Given the description of an element on the screen output the (x, y) to click on. 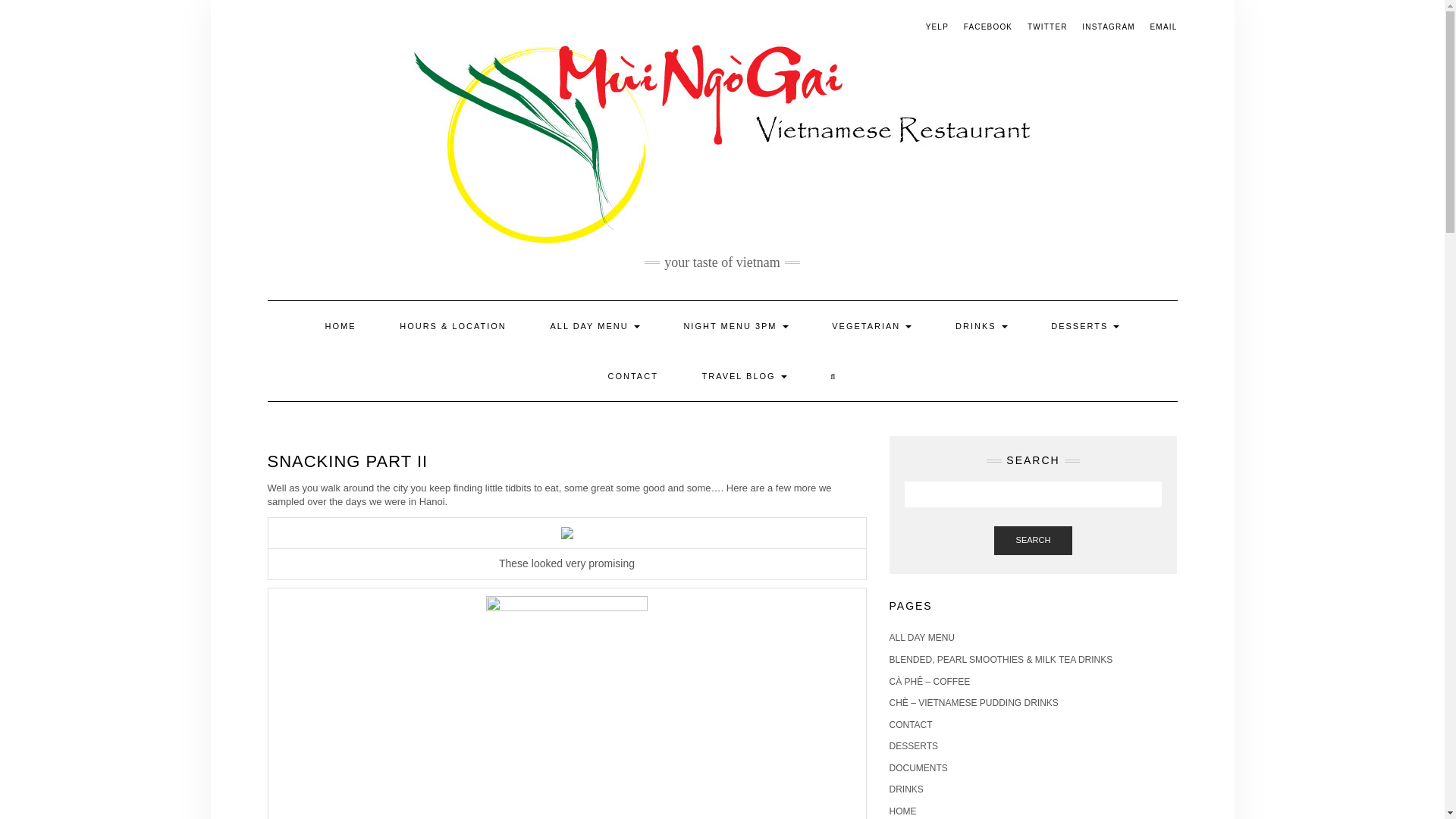
DESSERTS (1085, 326)
VEGETARIAN (870, 326)
YELP (937, 26)
HOME (340, 326)
EMAIL (1163, 26)
NIGHT MENU 3PM (735, 326)
DRINKS (980, 326)
TWITTER (1047, 26)
FACEBOOK (988, 26)
CONTACT (632, 376)
INSTAGRAM (1108, 26)
ALL DAY MENU (594, 326)
